Given the description of an element on the screen output the (x, y) to click on. 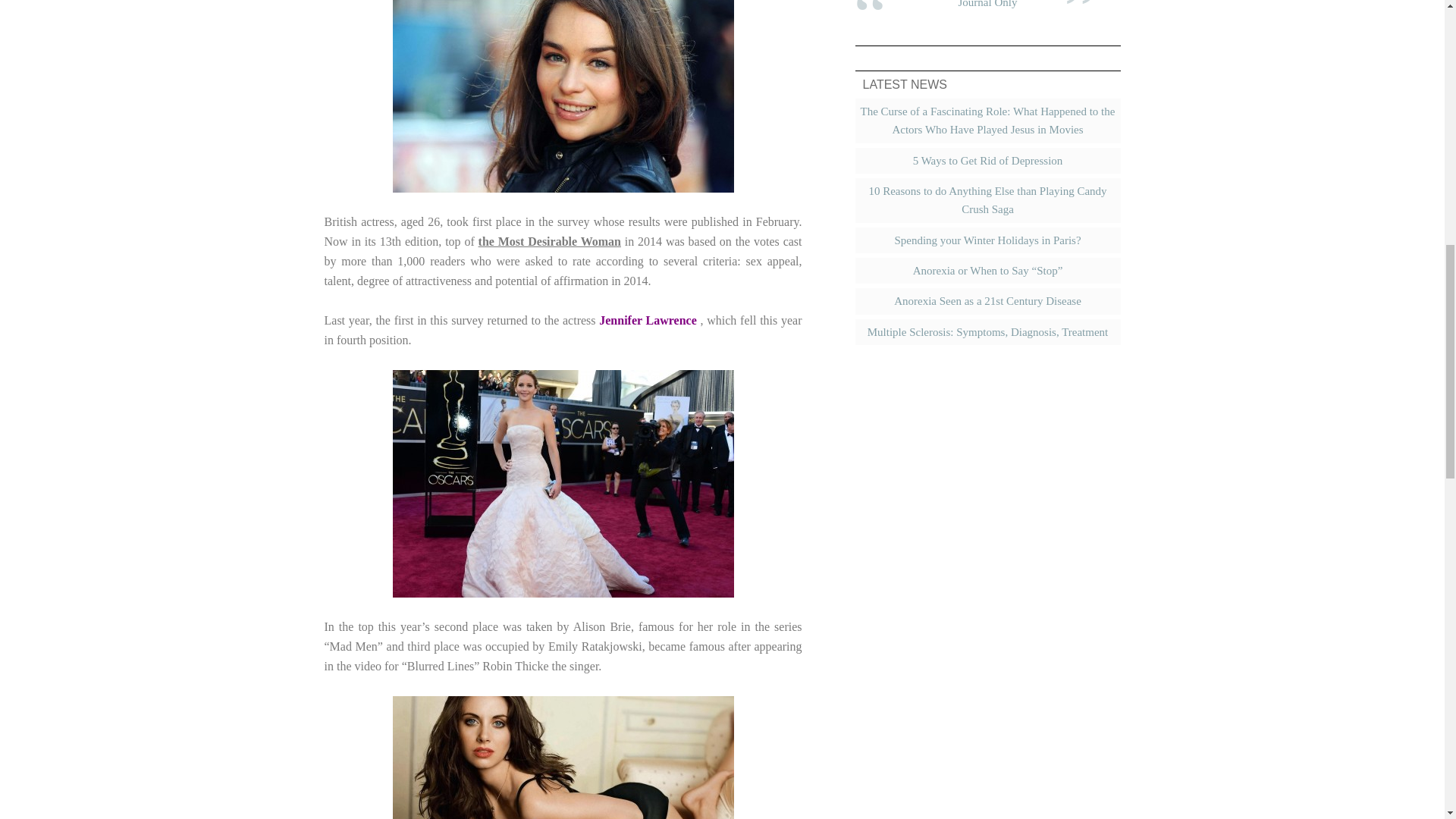
5 Ways to Get Rid of Depression (987, 160)
Spending your Winter Holidays in Paris? (986, 240)
Journal Only (987, 4)
10 Reasons to do Anything Else than Playing Candy Crush Saga (986, 200)
Multiple Sclerosis: Symptoms, Diagnosis, Treatment (987, 331)
Anorexia Seen as a 21st Century Disease (987, 300)
